Given the description of an element on the screen output the (x, y) to click on. 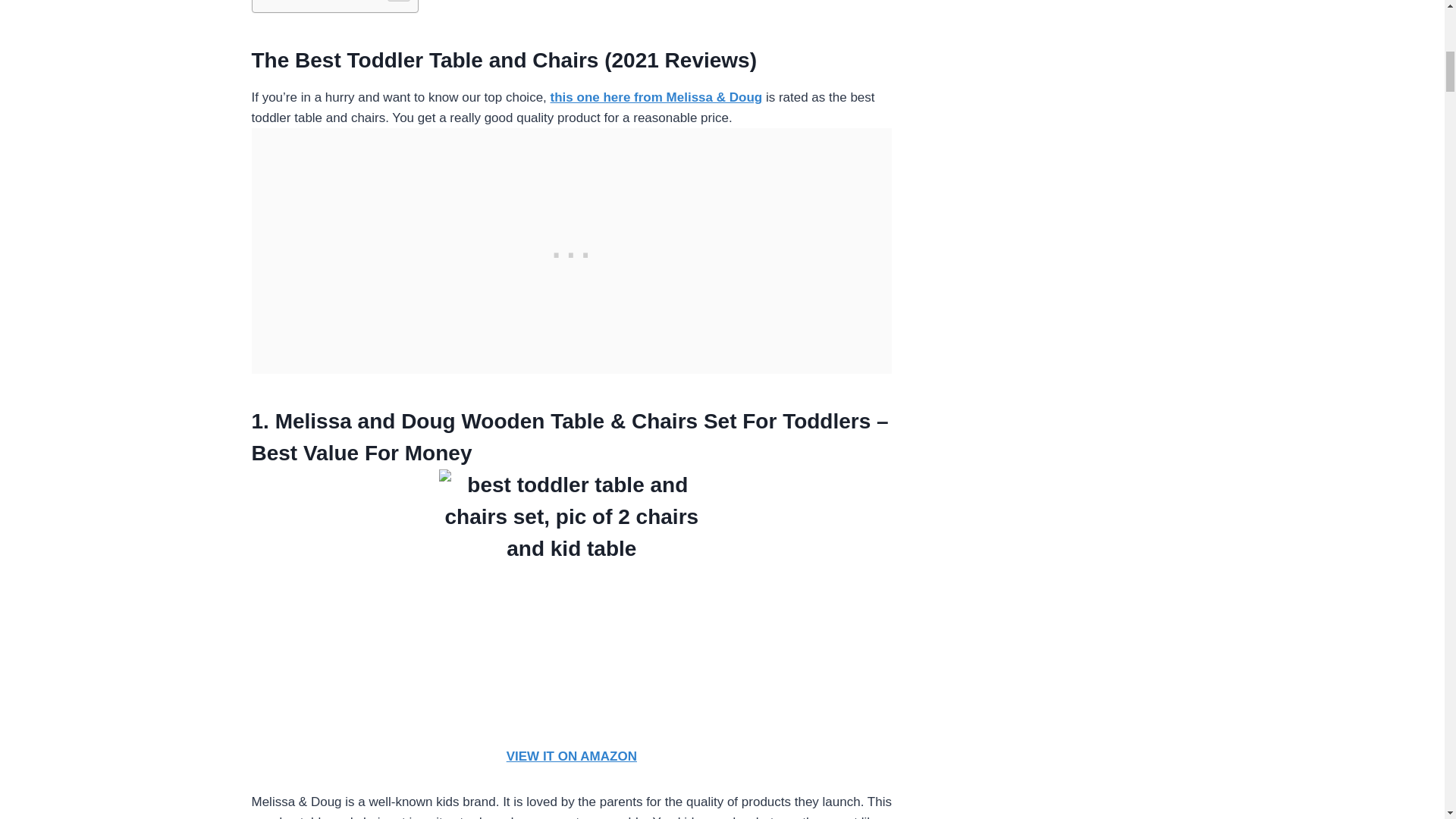
VIEW IT ON AMAZON (571, 756)
